Given the description of an element on the screen output the (x, y) to click on. 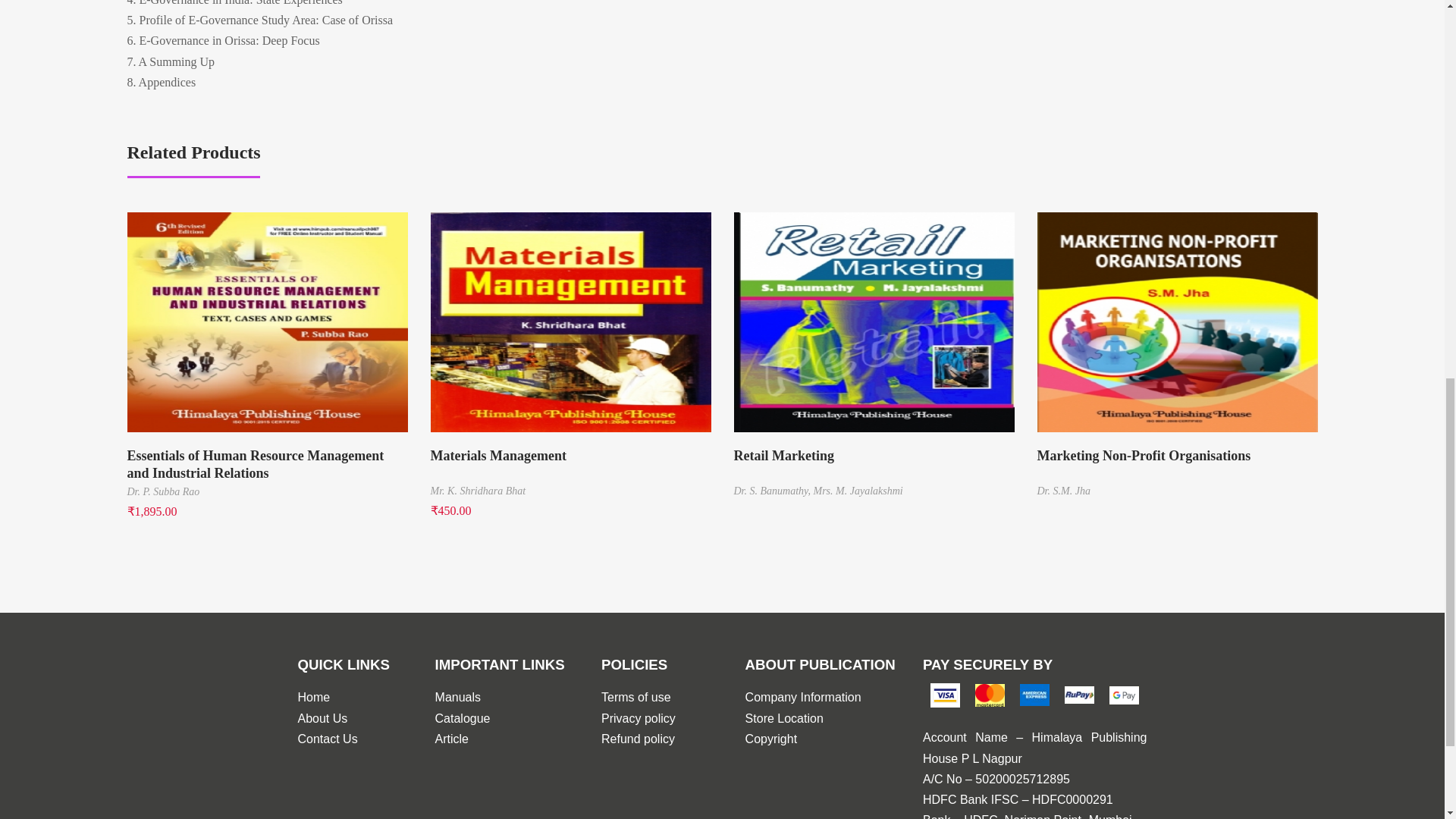
Materials Management (570, 464)
Retail Marketing (873, 464)
